Given the description of an element on the screen output the (x, y) to click on. 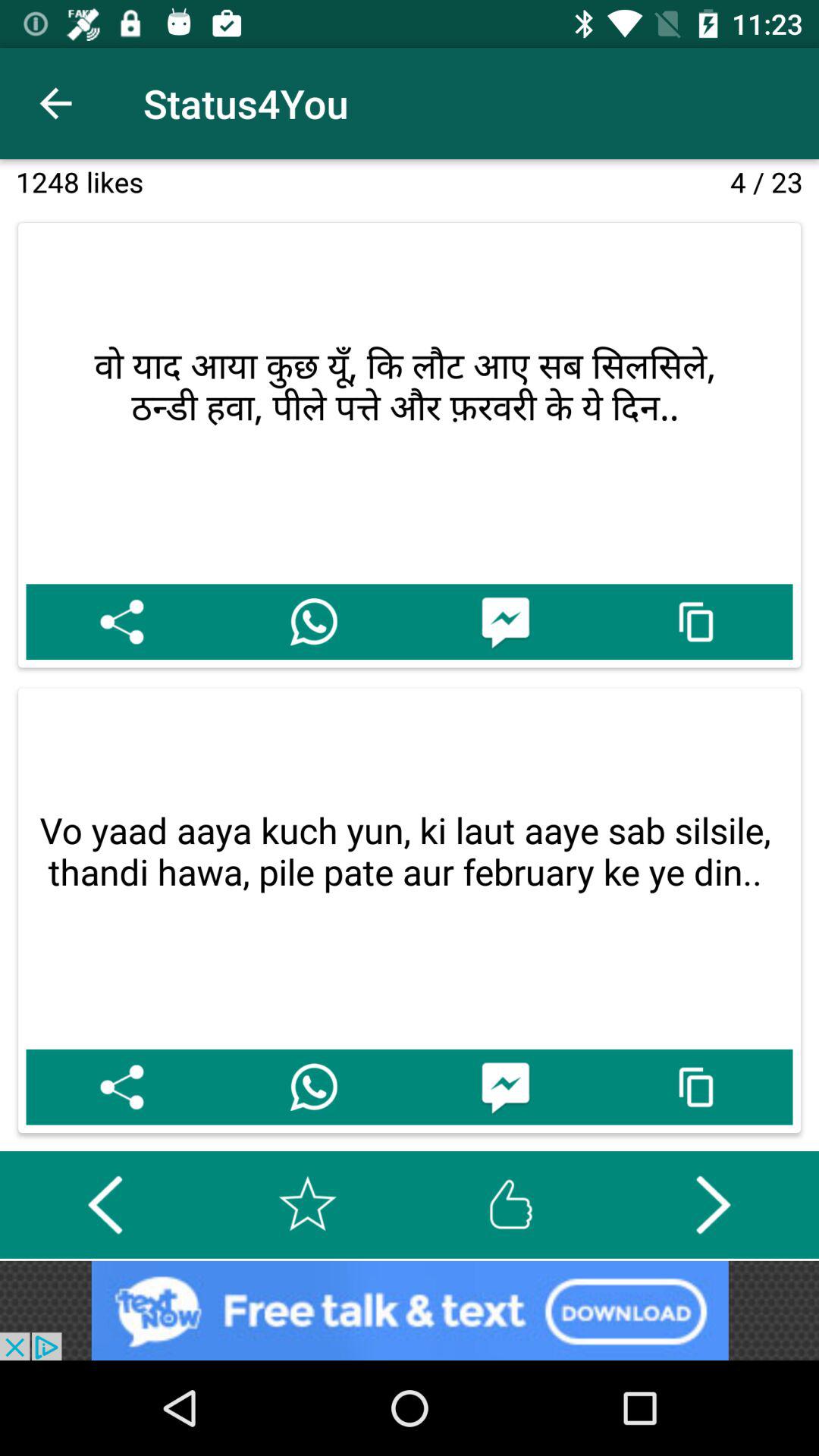
minimize selected (696, 1086)
